Given the description of an element on the screen output the (x, y) to click on. 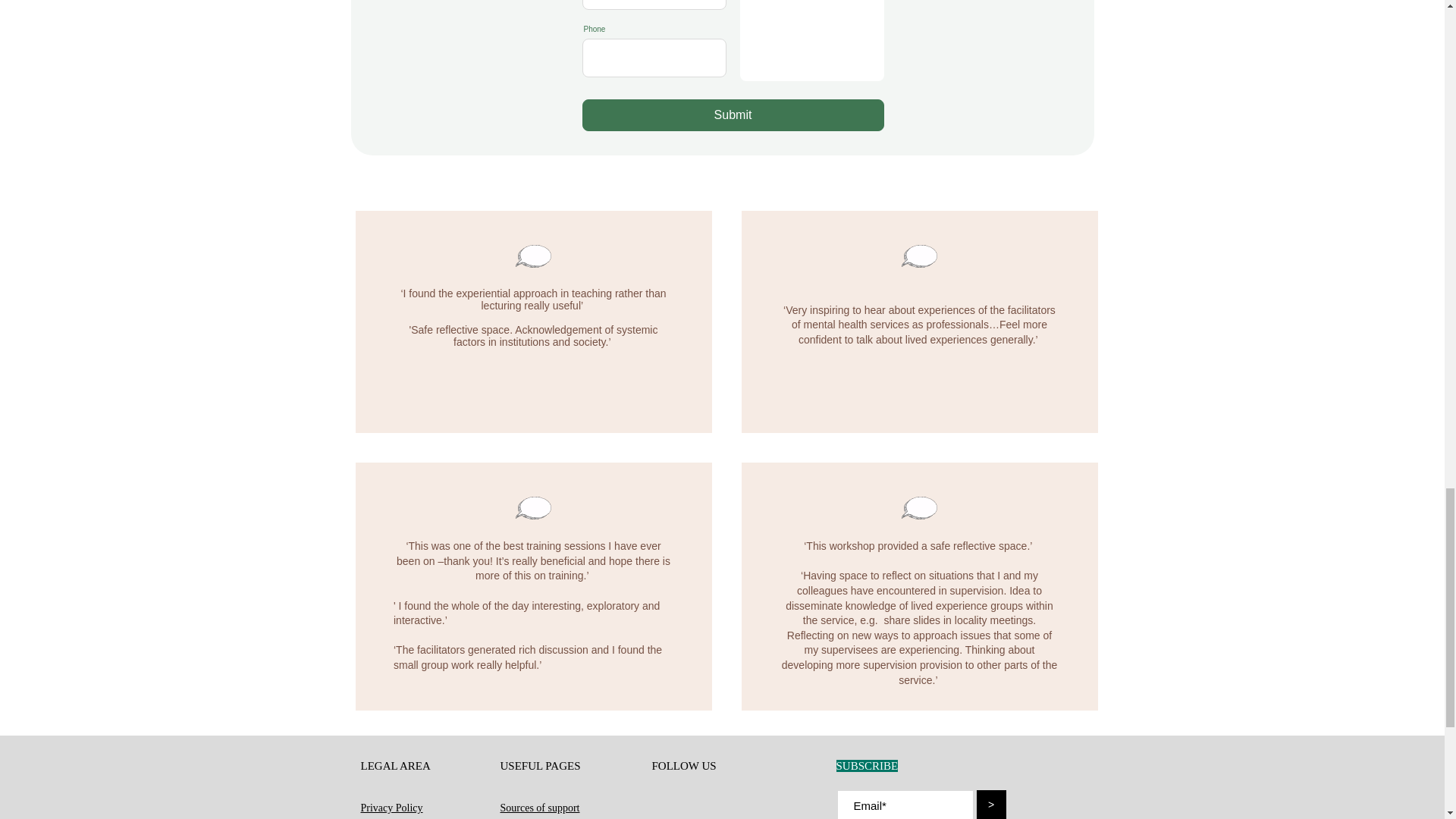
Privacy Policy (392, 807)
Submit (732, 115)
Sources of support (539, 807)
